Given the description of an element on the screen output the (x, y) to click on. 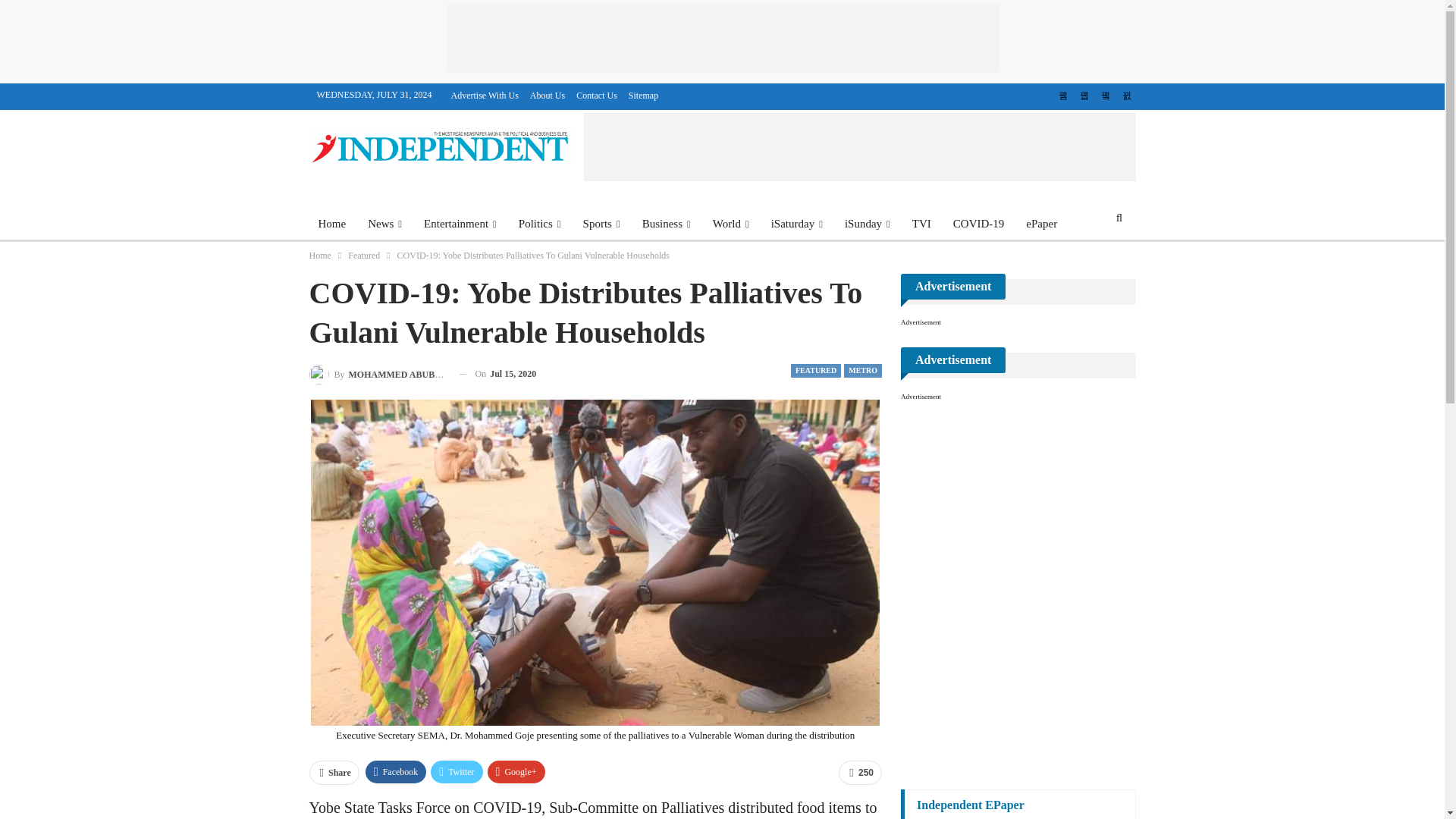
Home (331, 223)
About Us (546, 95)
Entertainment (459, 223)
Advertise With Us (484, 95)
Sitemap (643, 95)
News (384, 223)
Politics (539, 223)
Contact Us (596, 95)
